Given the description of an element on the screen output the (x, y) to click on. 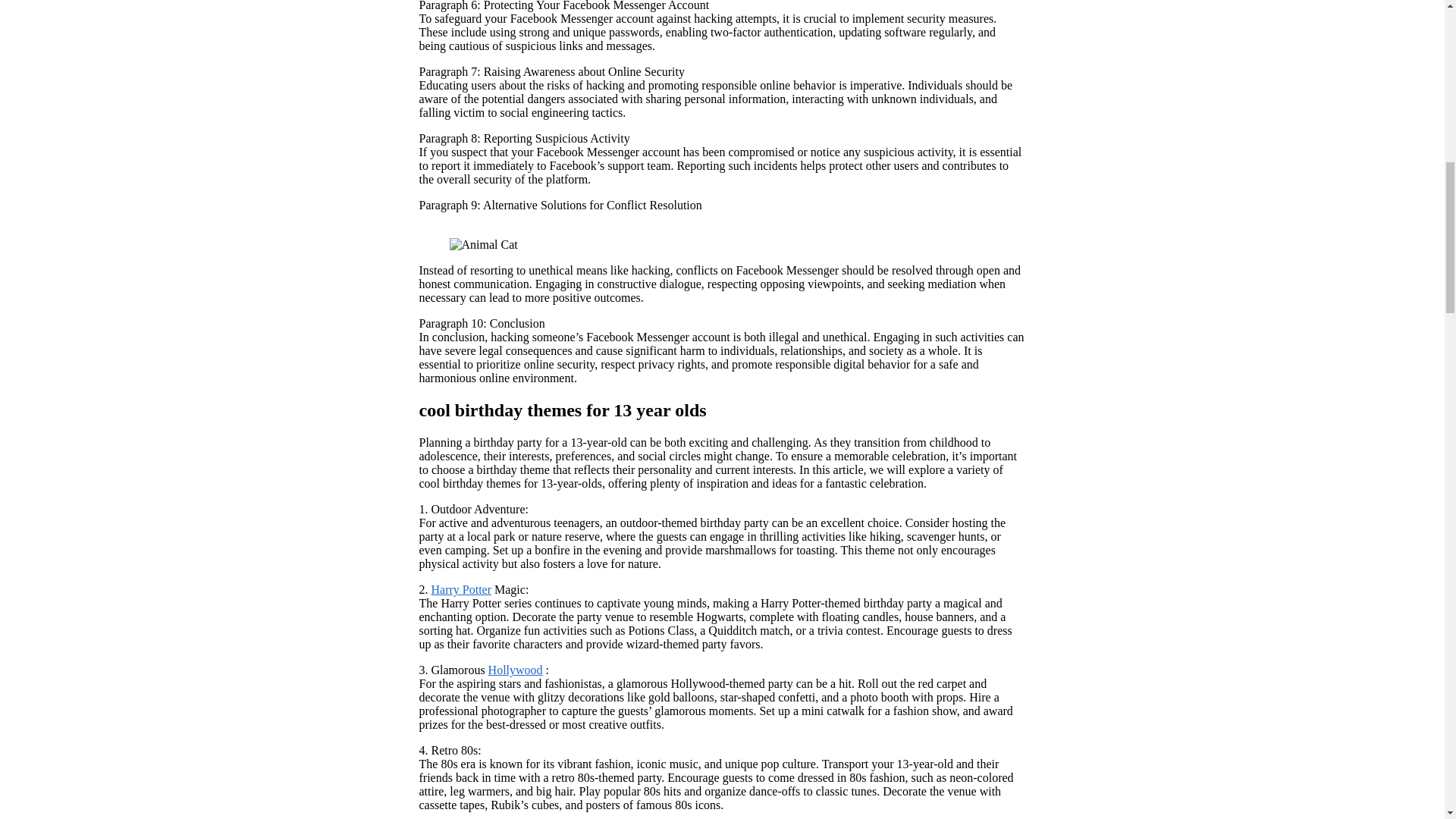
Animal Cat (482, 244)
Harry Potter (461, 589)
Hollywood (515, 669)
